Given the description of an element on the screen output the (x, y) to click on. 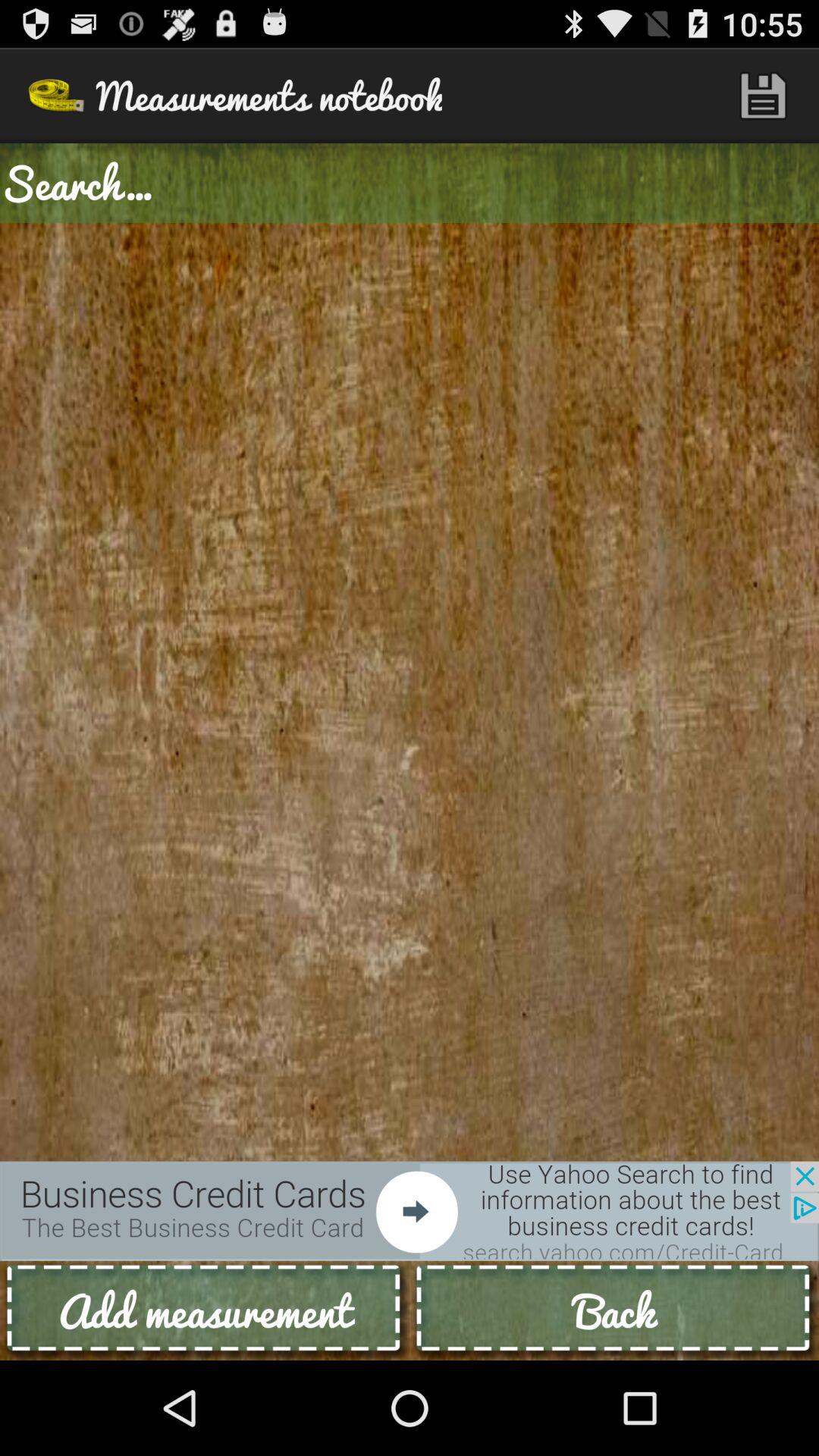
advertisement link image (409, 1210)
